Given the description of an element on the screen output the (x, y) to click on. 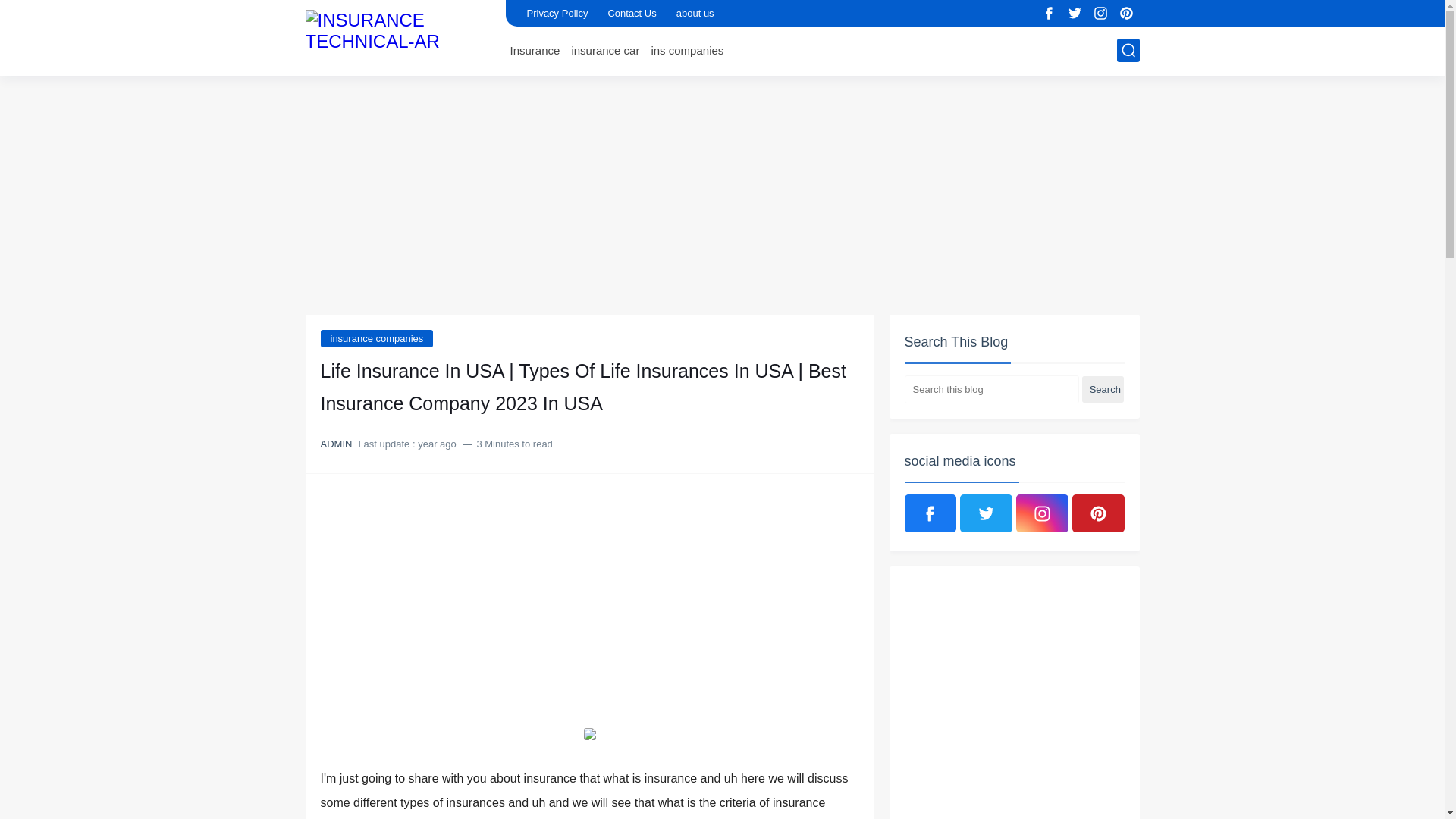
ins companies (686, 50)
insurance car (604, 50)
Insurance (534, 50)
INSURANCE TECHNICAL-AR (399, 36)
insurance companies (376, 338)
about us (694, 12)
Contact Us (631, 12)
insurance companies (376, 338)
ins companies (686, 50)
insurance car (604, 50)
